Given the description of an element on the screen output the (x, y) to click on. 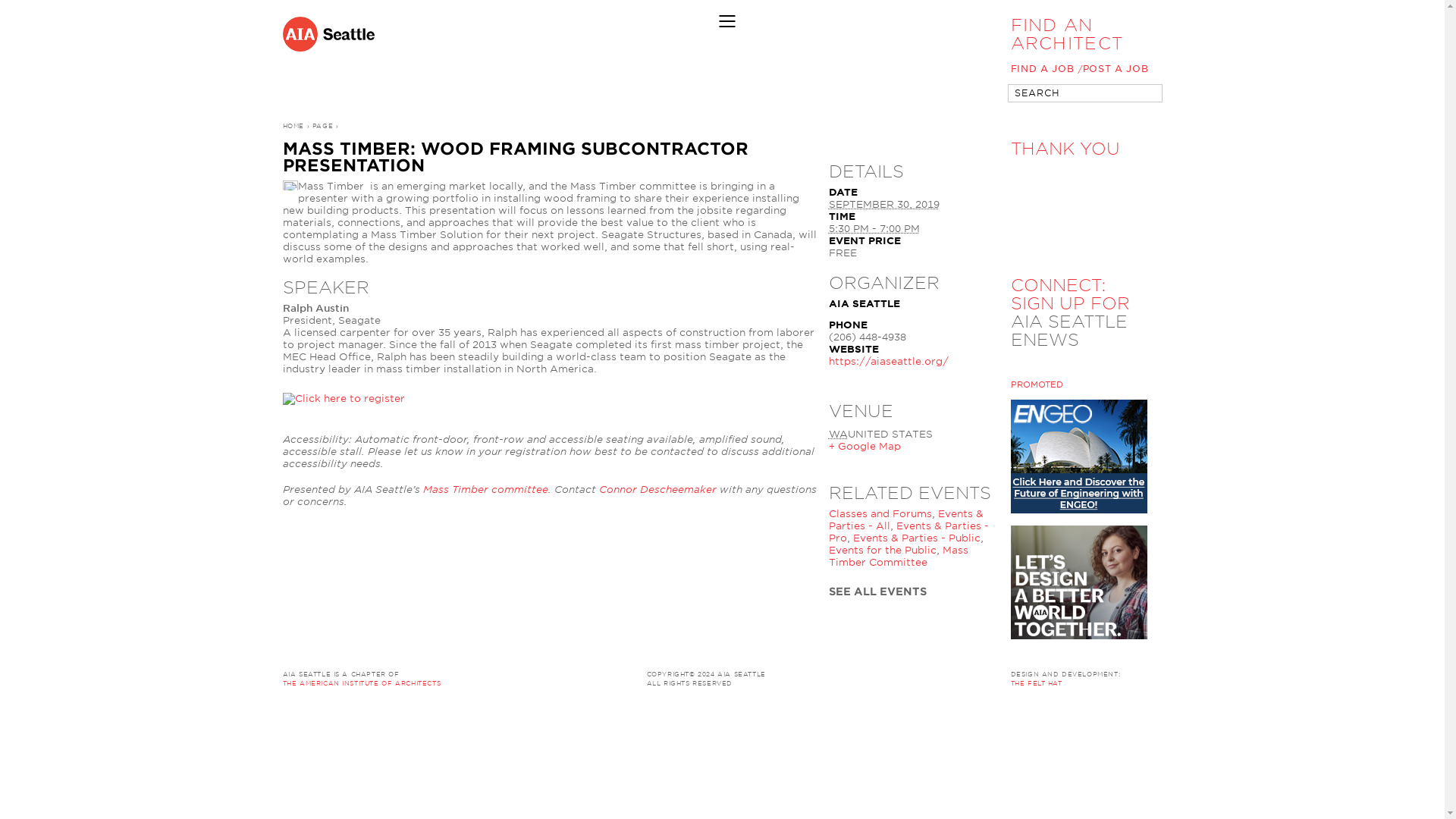
Instagram (933, 624)
Facebook (885, 624)
Twitter (836, 624)
The American Institue of Architects (454, 678)
Search (1143, 93)
AIA Seattle (633, 33)
Click to view a Google Map (863, 446)
2019-09-30 (883, 204)
The Felt Hat (1035, 683)
LinkedIn (860, 624)
2019-09-30 (873, 228)
AIA Seattle (731, 674)
